Given the description of an element on the screen output the (x, y) to click on. 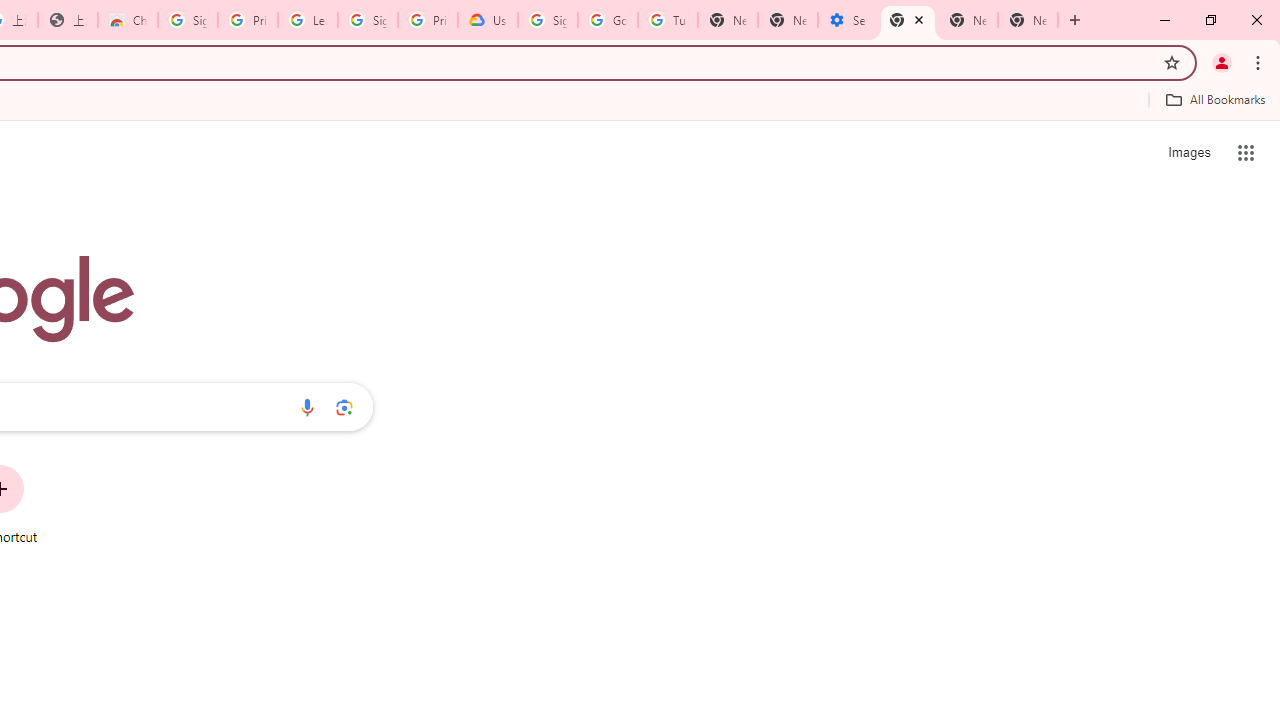
Sign in - Google Accounts (187, 20)
Turn cookies on or off - Computer - Google Account Help (667, 20)
Settings - System (847, 20)
Google Account Help (607, 20)
